Given the description of an element on the screen output the (x, y) to click on. 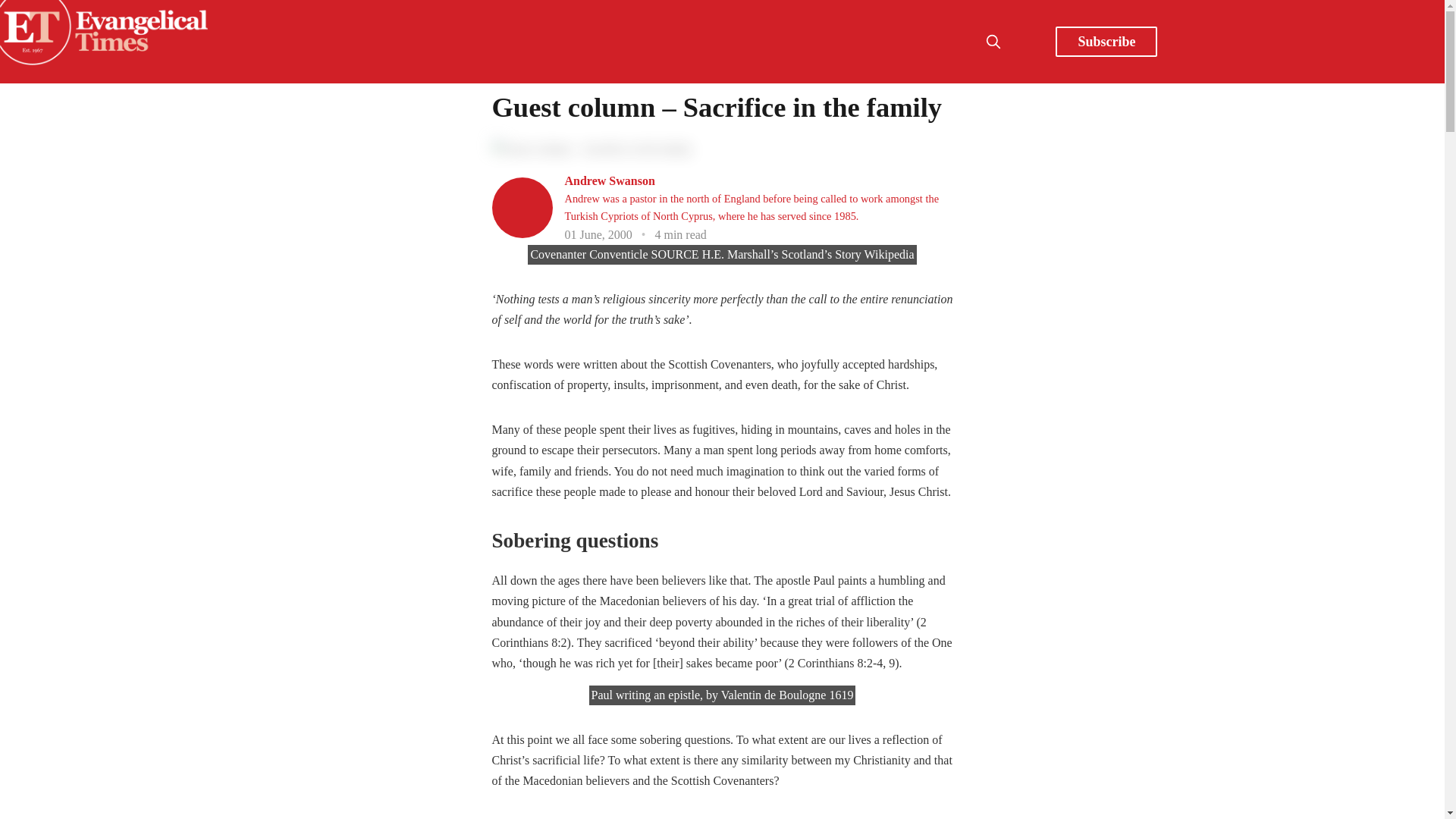
Andrew Swanson (608, 180)
Subscribe (1106, 41)
Open Menu (1026, 41)
